Given the description of an element on the screen output the (x, y) to click on. 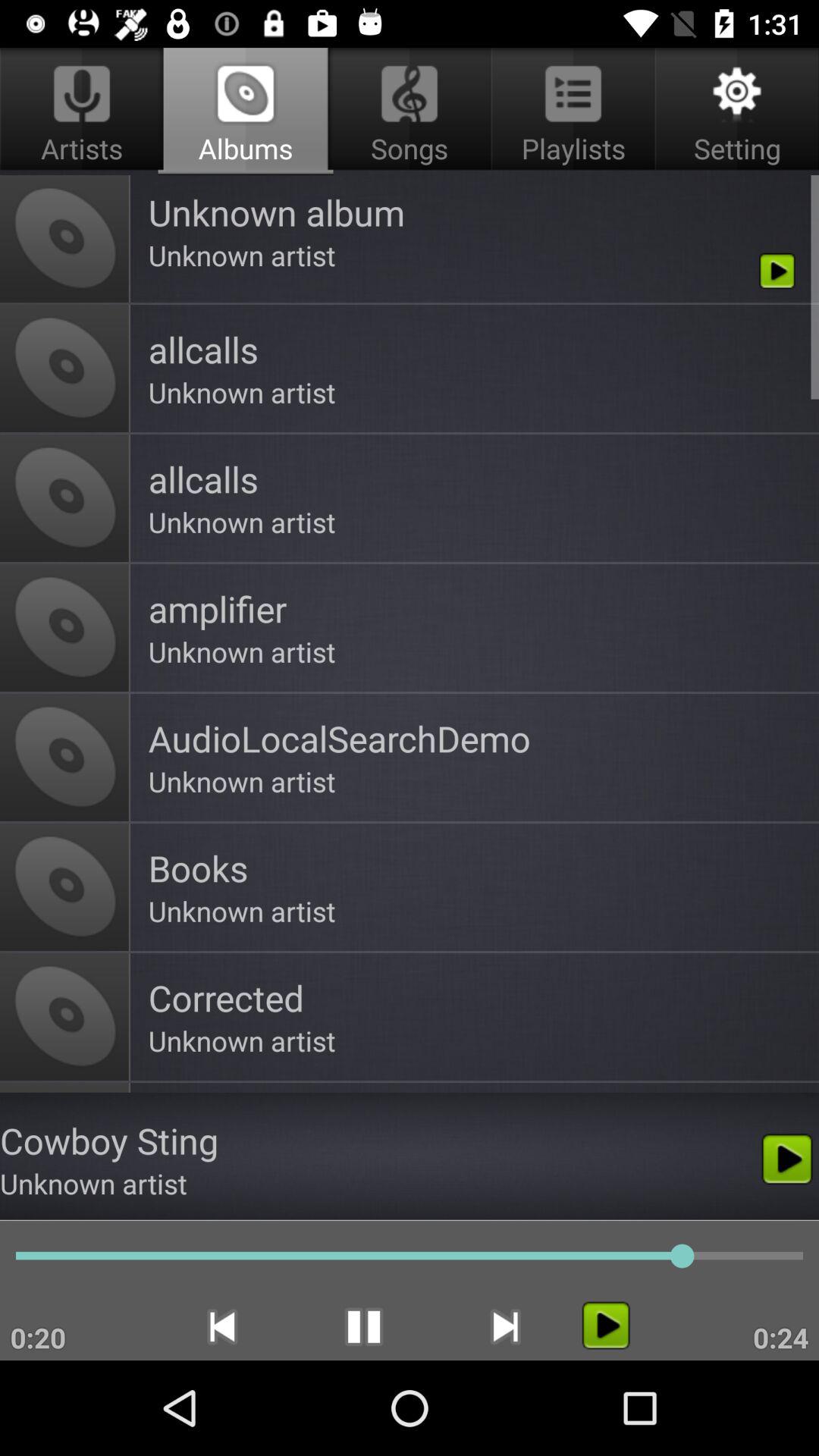
launch item next to the songs (734, 111)
